Given the description of an element on the screen output the (x, y) to click on. 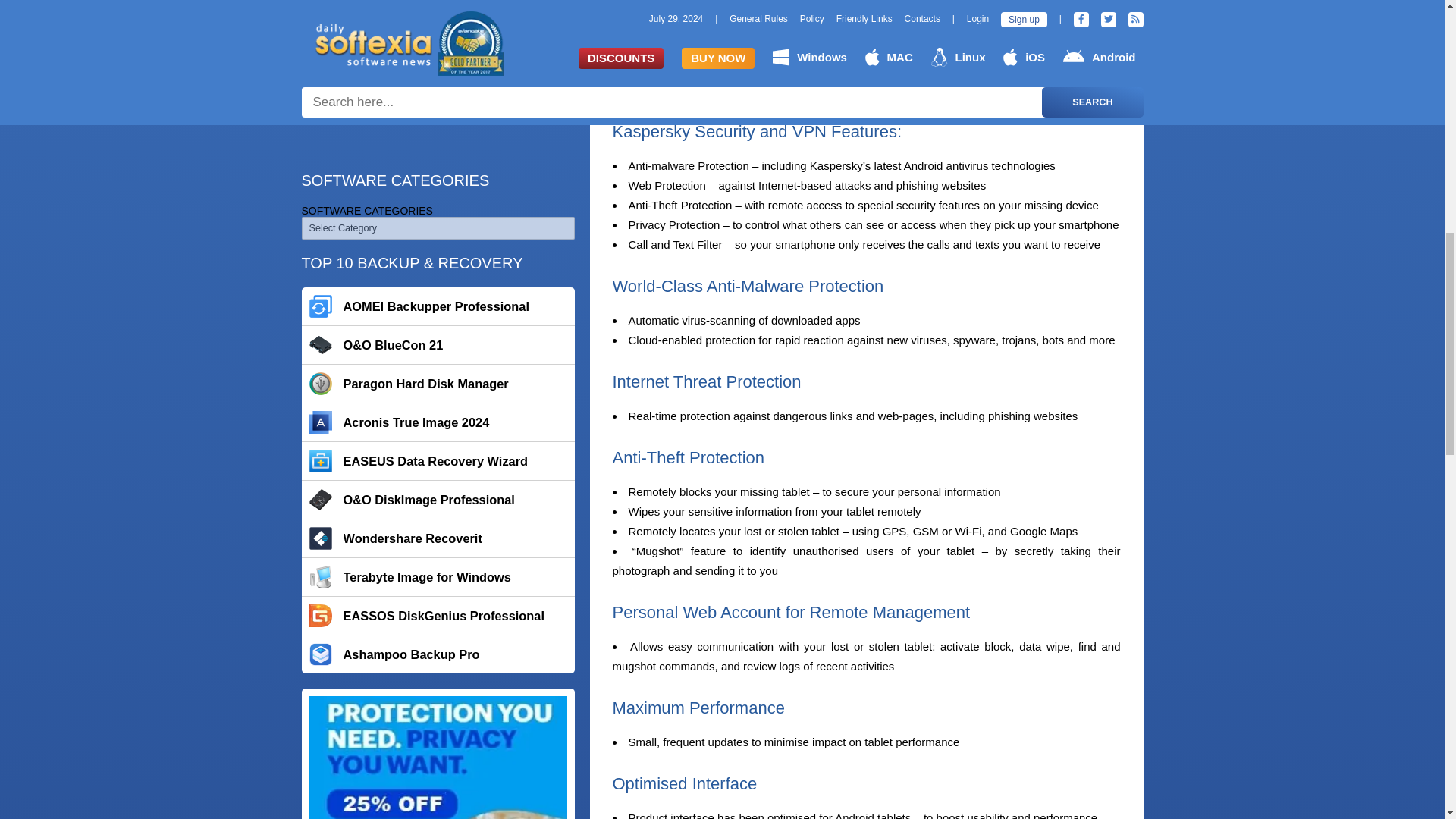
Avast One 2024 (437, 165)
AVG Ultimate 2024 (437, 204)
Avast One 2024 (437, 165)
